Given the description of an element on the screen output the (x, y) to click on. 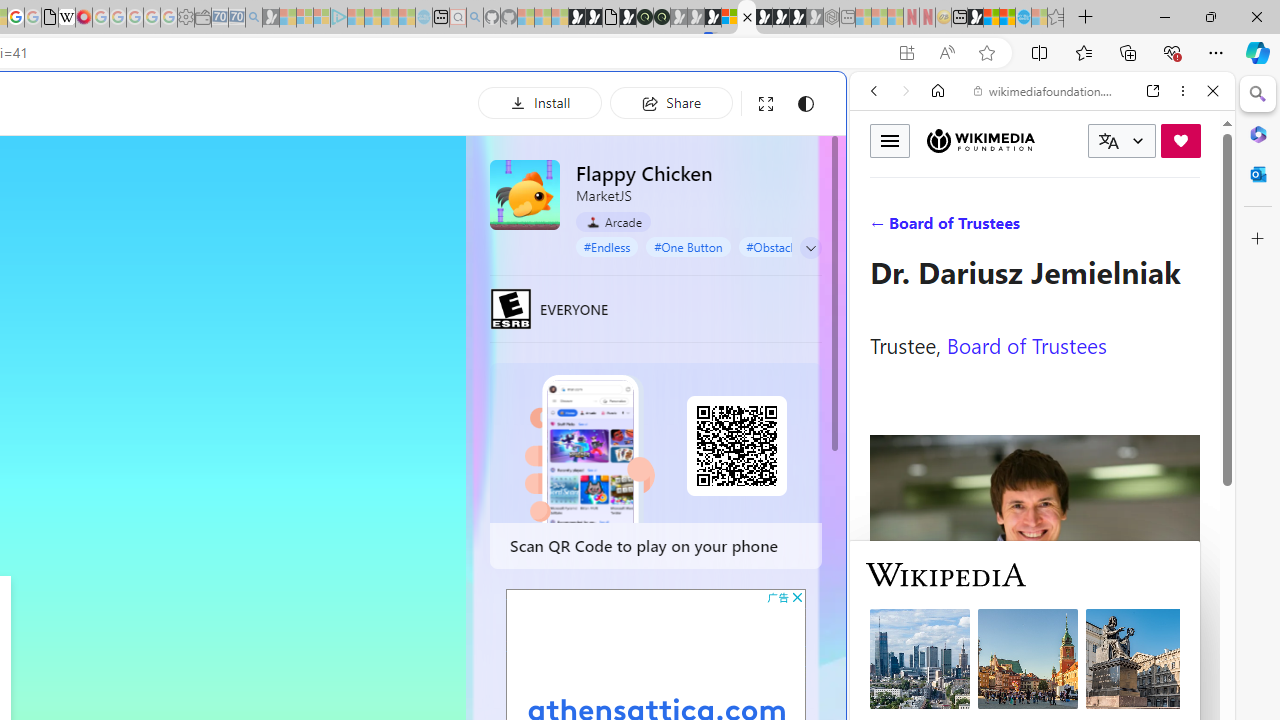
Close tab (747, 16)
wikimediafoundation.org (1045, 90)
Flappy Chicken (525, 194)
Preferences (1189, 228)
Microsoft 365 (1258, 133)
Donate now (1180, 140)
Microsoft Start - Sleeping (389, 17)
Target page - Wikipedia (66, 17)
Tabs you've opened (276, 265)
#Endless (607, 246)
AutomationID: cbb (797, 596)
